Given the description of an element on the screen output the (x, y) to click on. 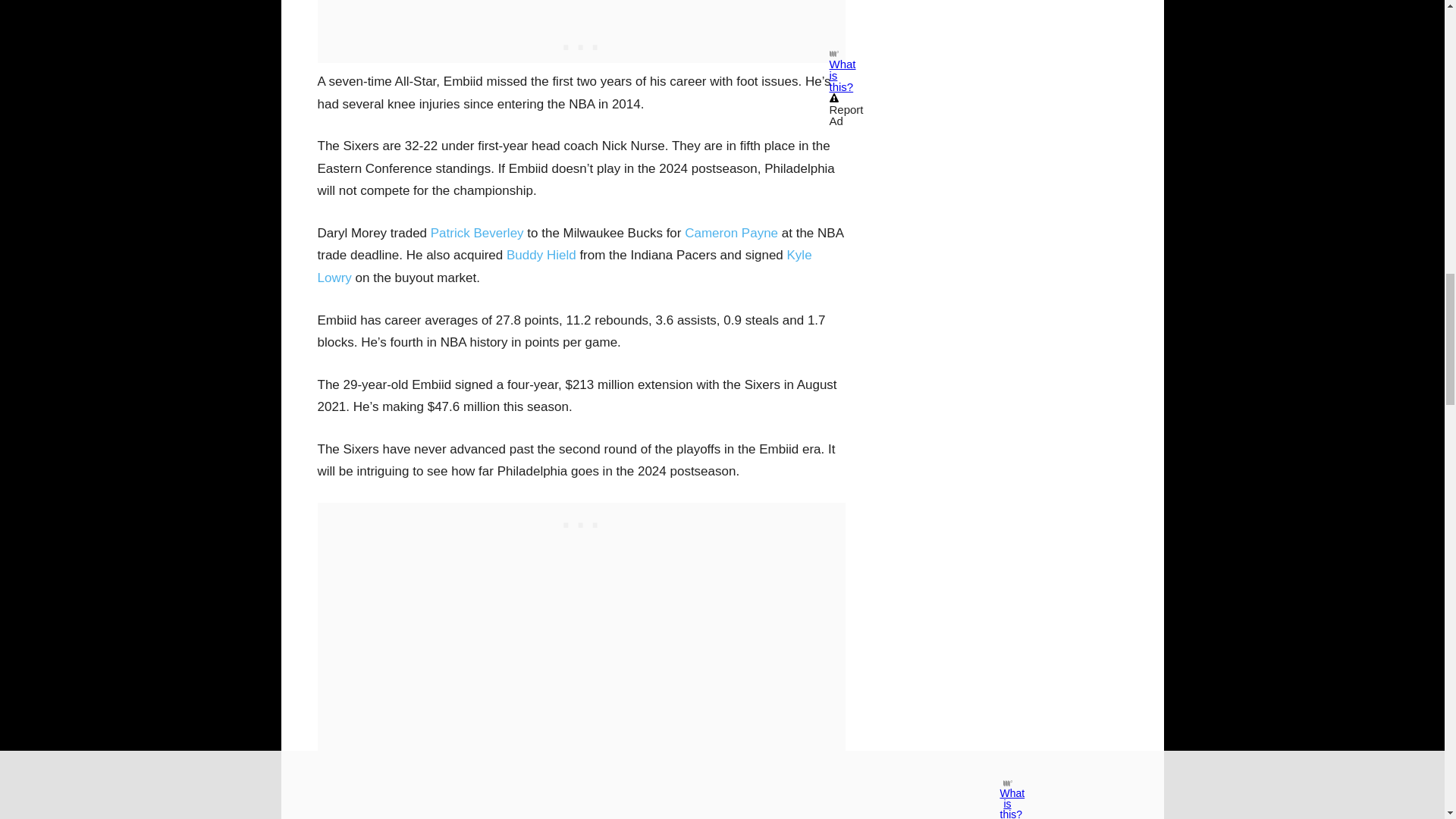
3rd party ad content (580, 521)
